Given the description of an element on the screen output the (x, y) to click on. 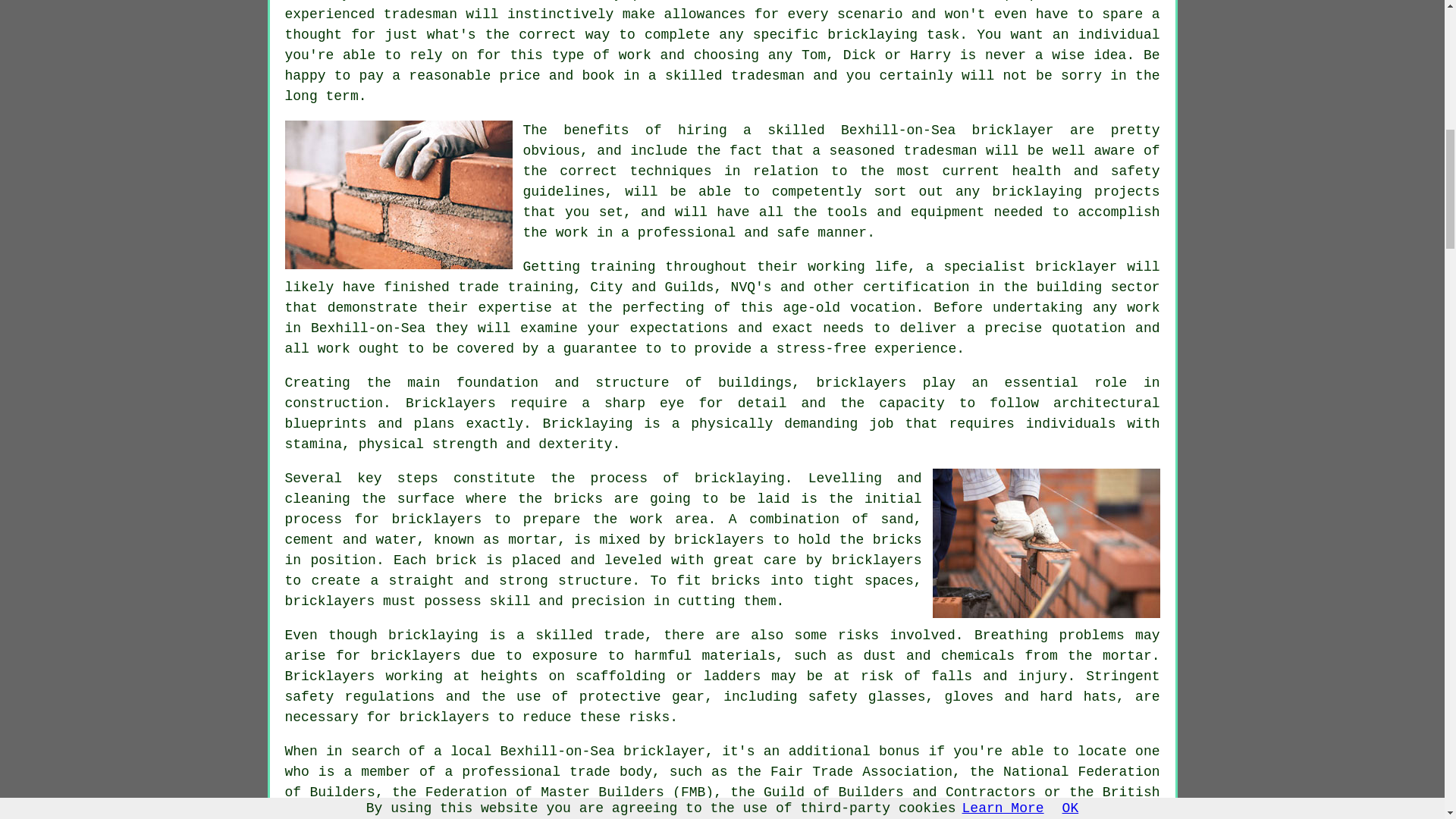
bricklayers (416, 655)
bricklaying (739, 478)
bricklayers (860, 382)
Bricklaying Bexhill-on-Sea (1046, 543)
Bricklayer Bexhill-on-Sea TN39 (398, 194)
